Given the description of an element on the screen output the (x, y) to click on. 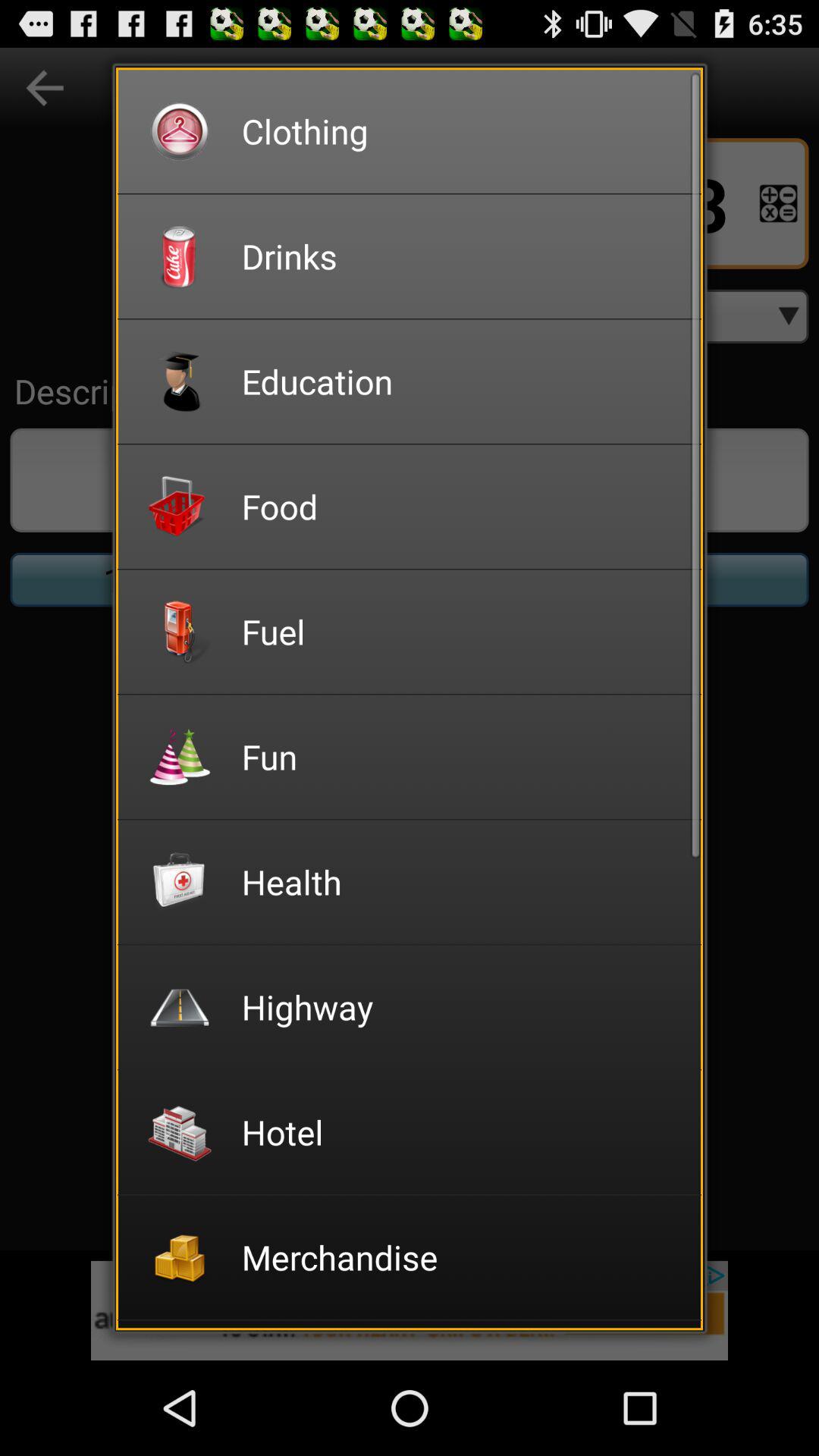
flip until fun item (461, 756)
